Given the description of an element on the screen output the (x, y) to click on. 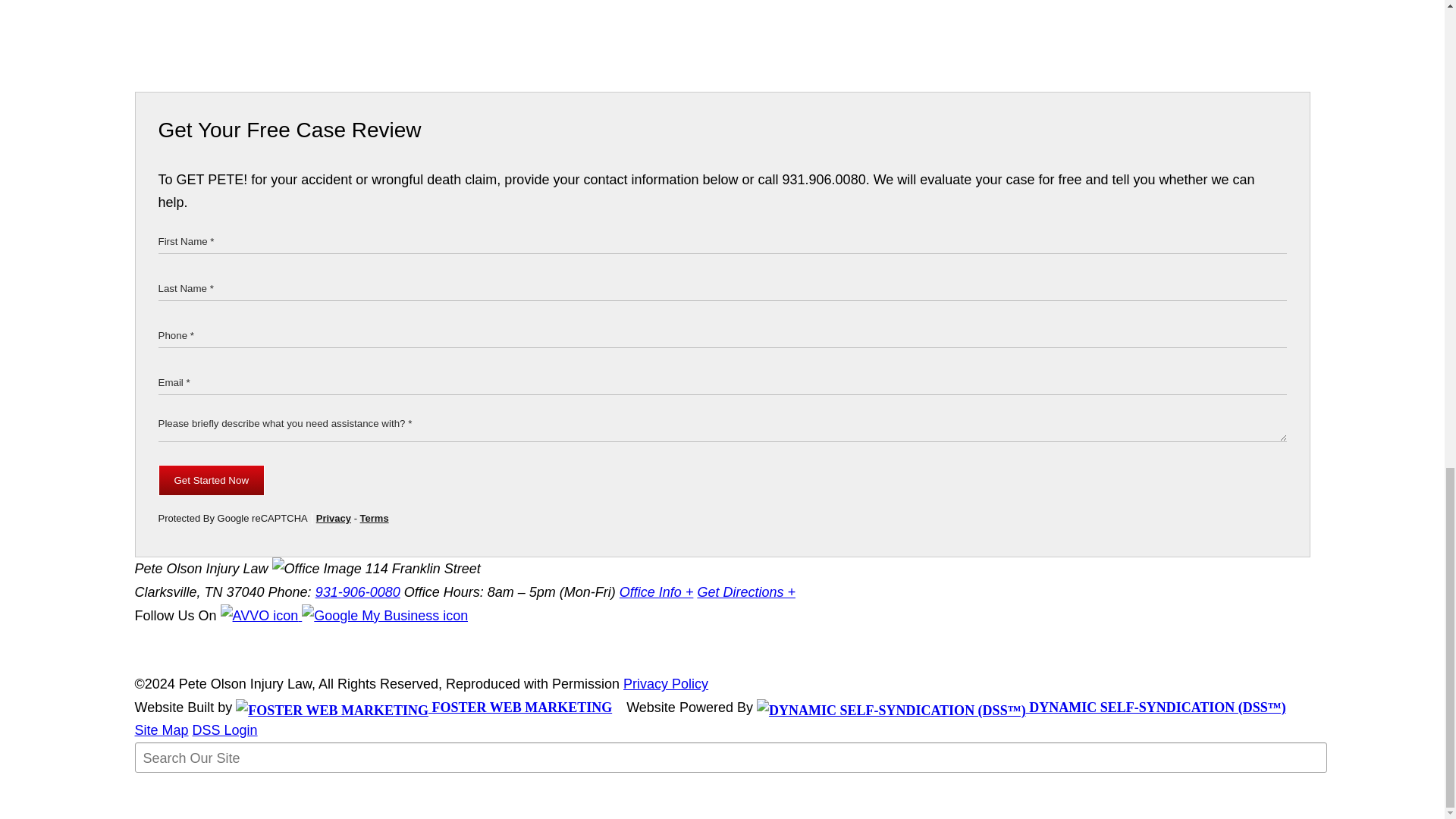
931-906-0080 (357, 591)
Terms (373, 518)
Search (172, 788)
Privacy (332, 518)
Get Started Now (210, 480)
